Given the description of an element on the screen output the (x, y) to click on. 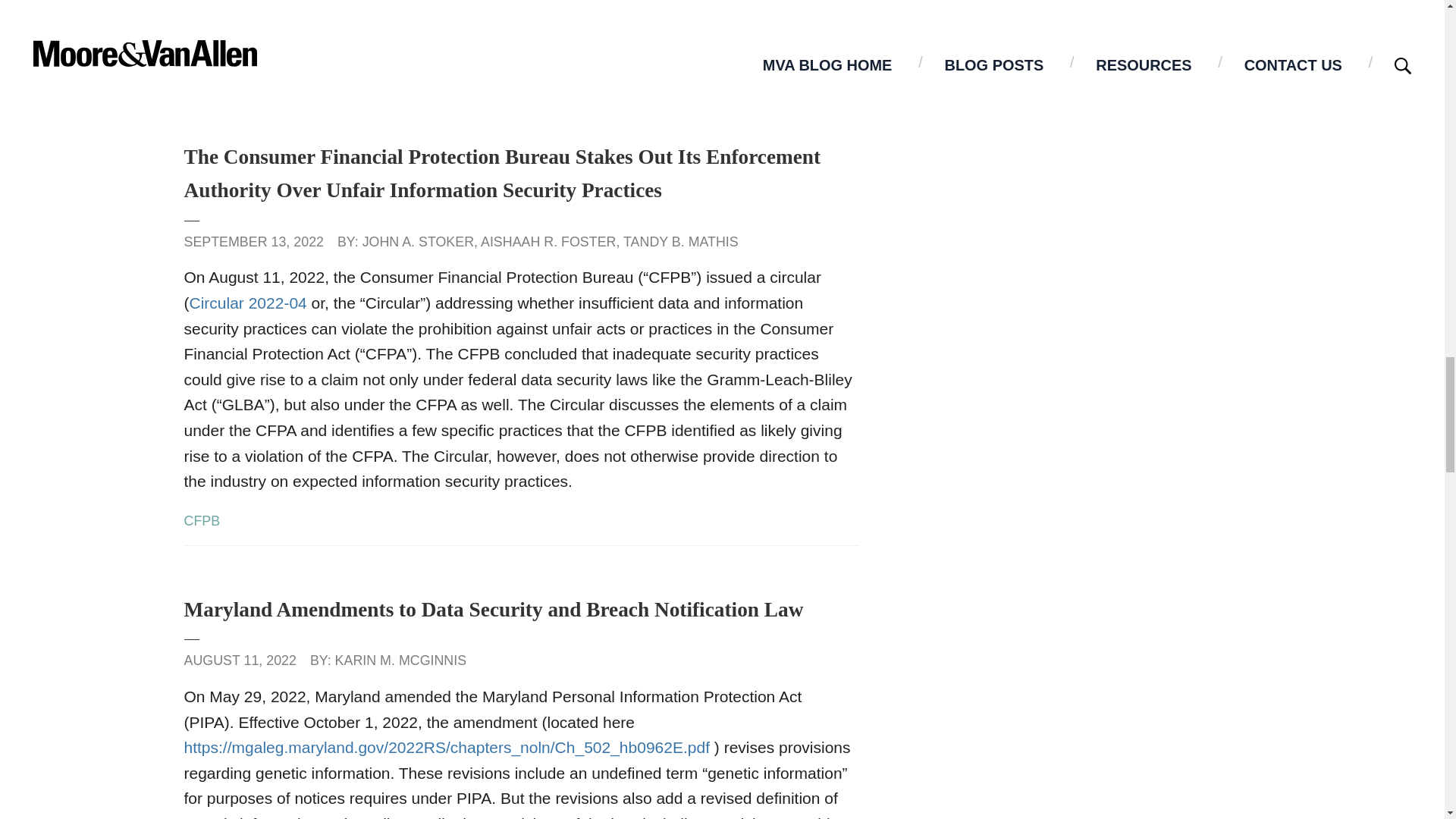
CFPB (201, 520)
Privacy (205, 68)
KARIN M. MCGINNIS (400, 660)
Circular 2022-04 (248, 303)
